Given the description of an element on the screen output the (x, y) to click on. 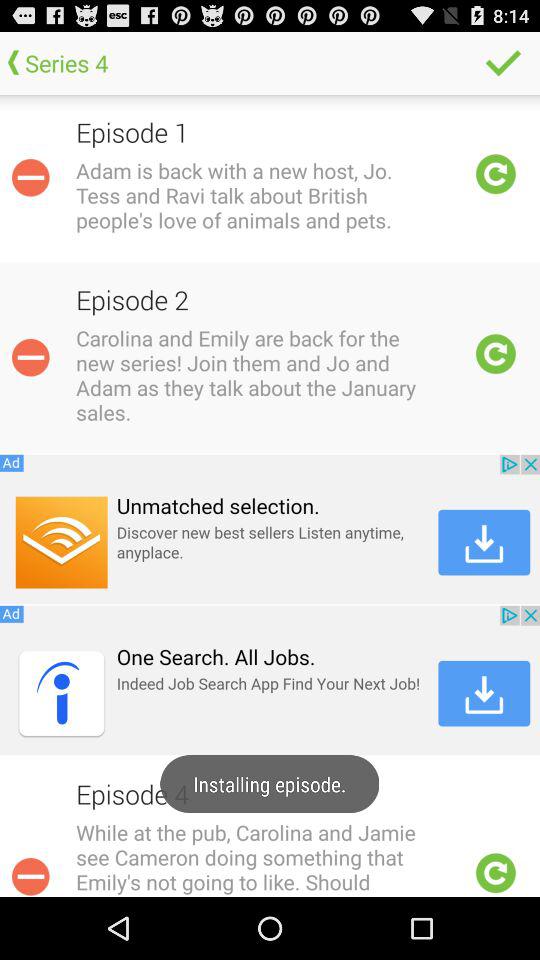
view first advertisement (270, 529)
